Given the description of an element on the screen output the (x, y) to click on. 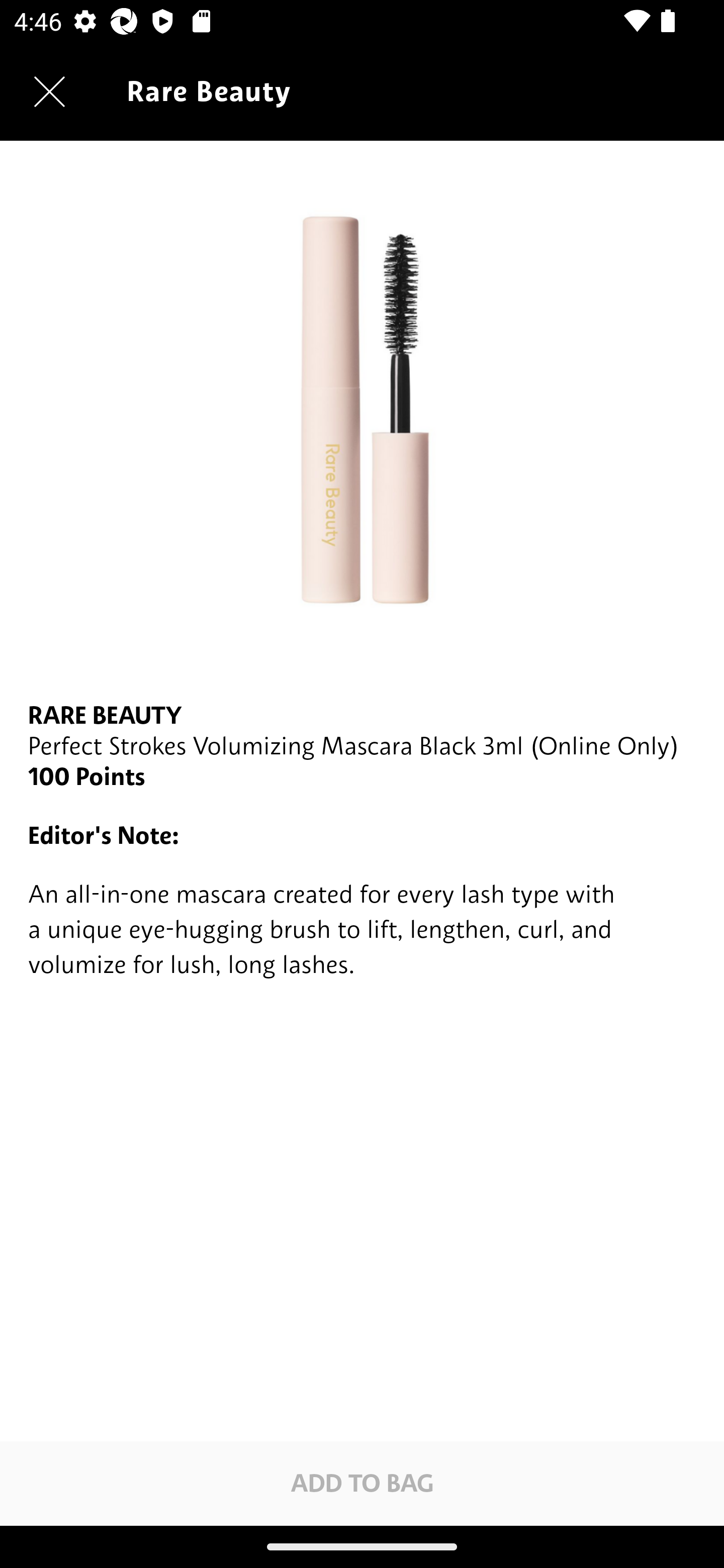
ADD TO BAG (362, 1482)
